Given the description of an element on the screen output the (x, y) to click on. 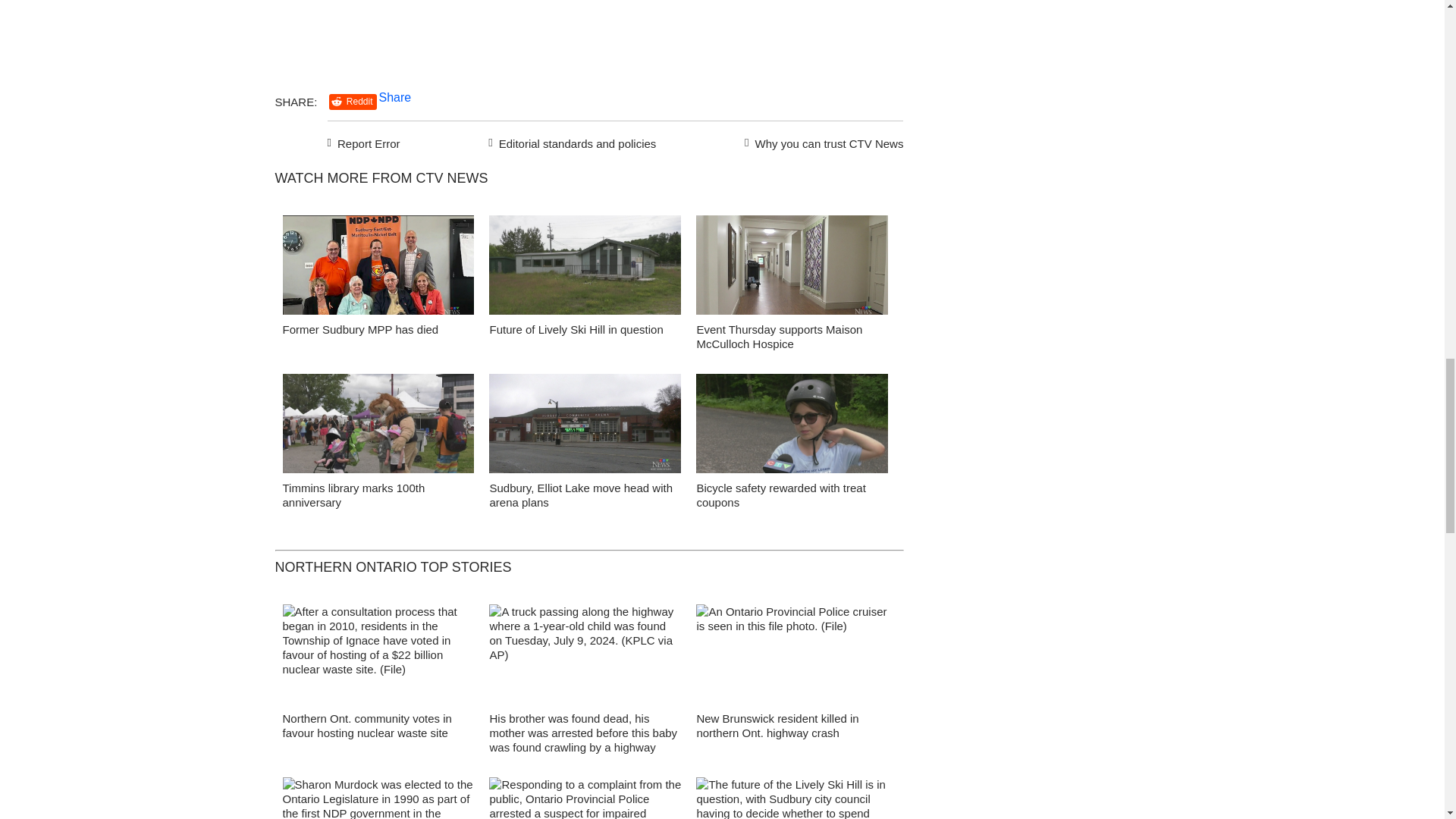
Why you can trust CTV News (820, 141)
Report Error (363, 141)
Share (395, 97)
Former Sudbury MPP has died (360, 328)
Reddit (353, 101)
Editorial standards and policies (569, 141)
false (378, 264)
